Given the description of an element on the screen output the (x, y) to click on. 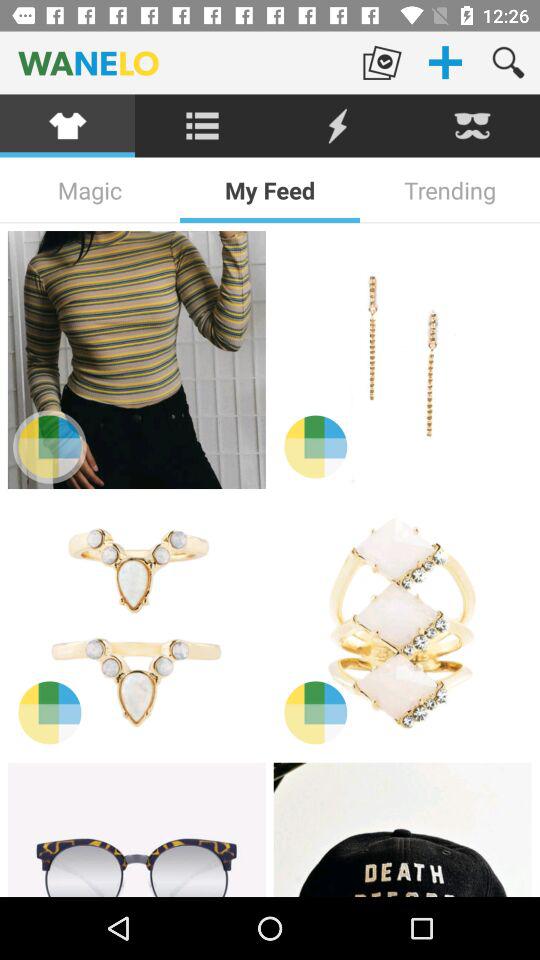
flip to my feed (270, 190)
